Given the description of an element on the screen output the (x, y) to click on. 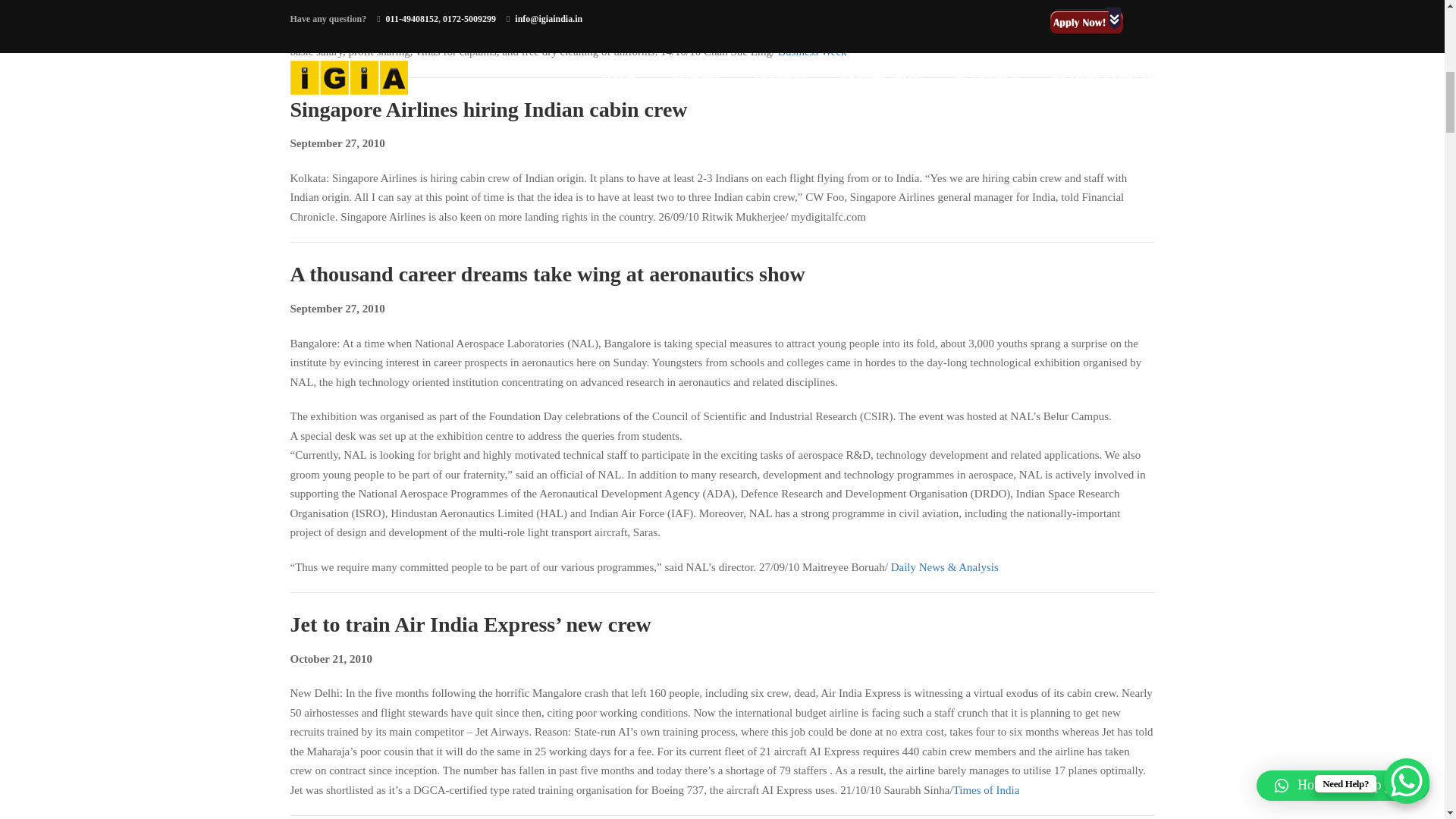
Times of India (986, 789)
Business Week (812, 51)
